Given the description of an element on the screen output the (x, y) to click on. 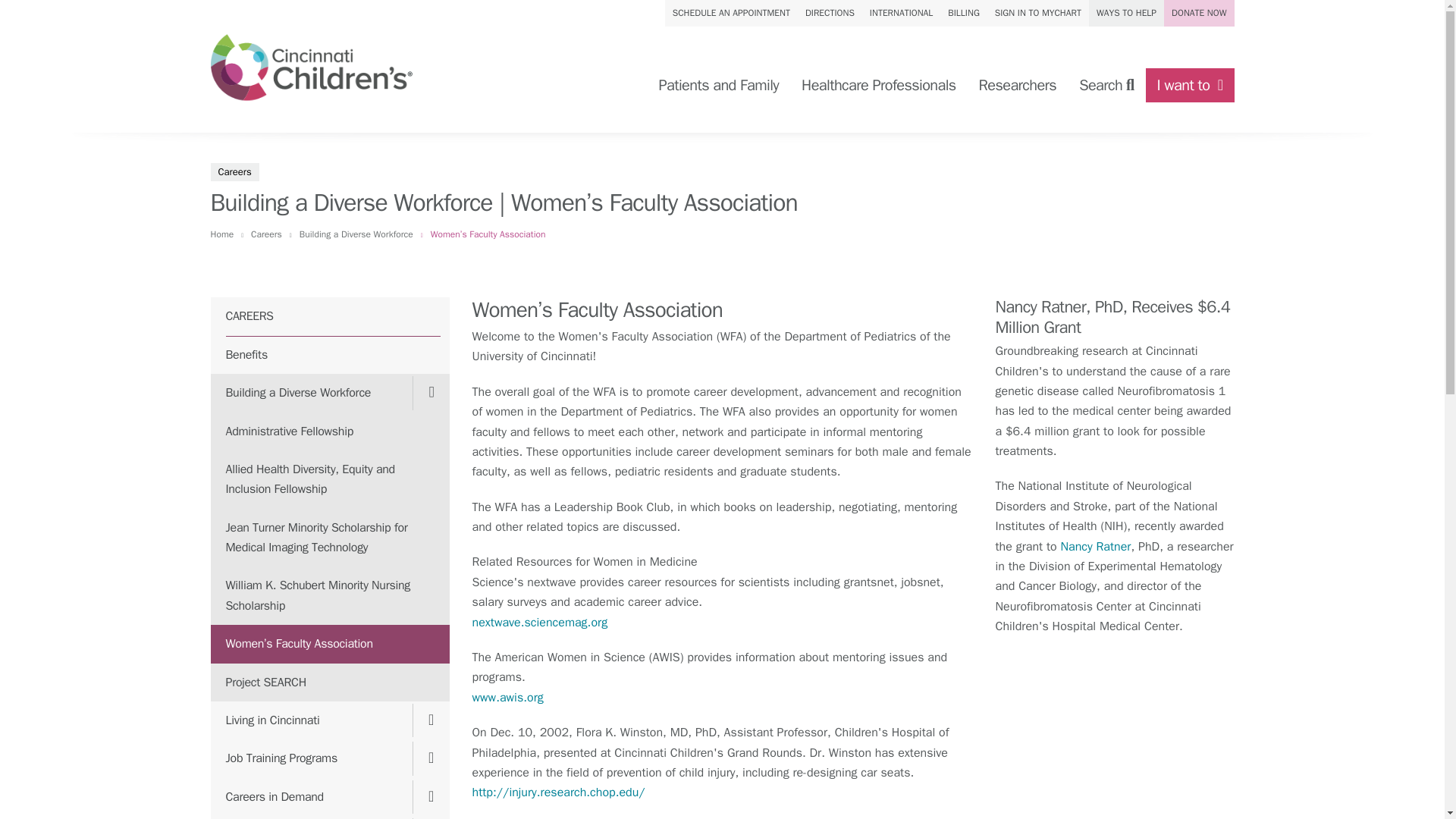
WAYS TO HELP (1126, 13)
SIGN IN TO MYCHART (1038, 13)
Give now to Cincinnati Children's (1198, 13)
Patients and Family (718, 84)
Pay Your Bill. (963, 13)
SIgn in to mychart. (1038, 13)
Healthcare Professionals (878, 84)
Schedule an appointment.  (731, 13)
DIRECTIONS (829, 13)
DONATE NOW (1198, 13)
BILLING (963, 13)
Researchers (1018, 84)
View locations and directions.  (829, 13)
Resources for international patients.  (900, 13)
SCHEDULE AN APPOINTMENT (731, 13)
